Given the description of an element on the screen output the (x, y) to click on. 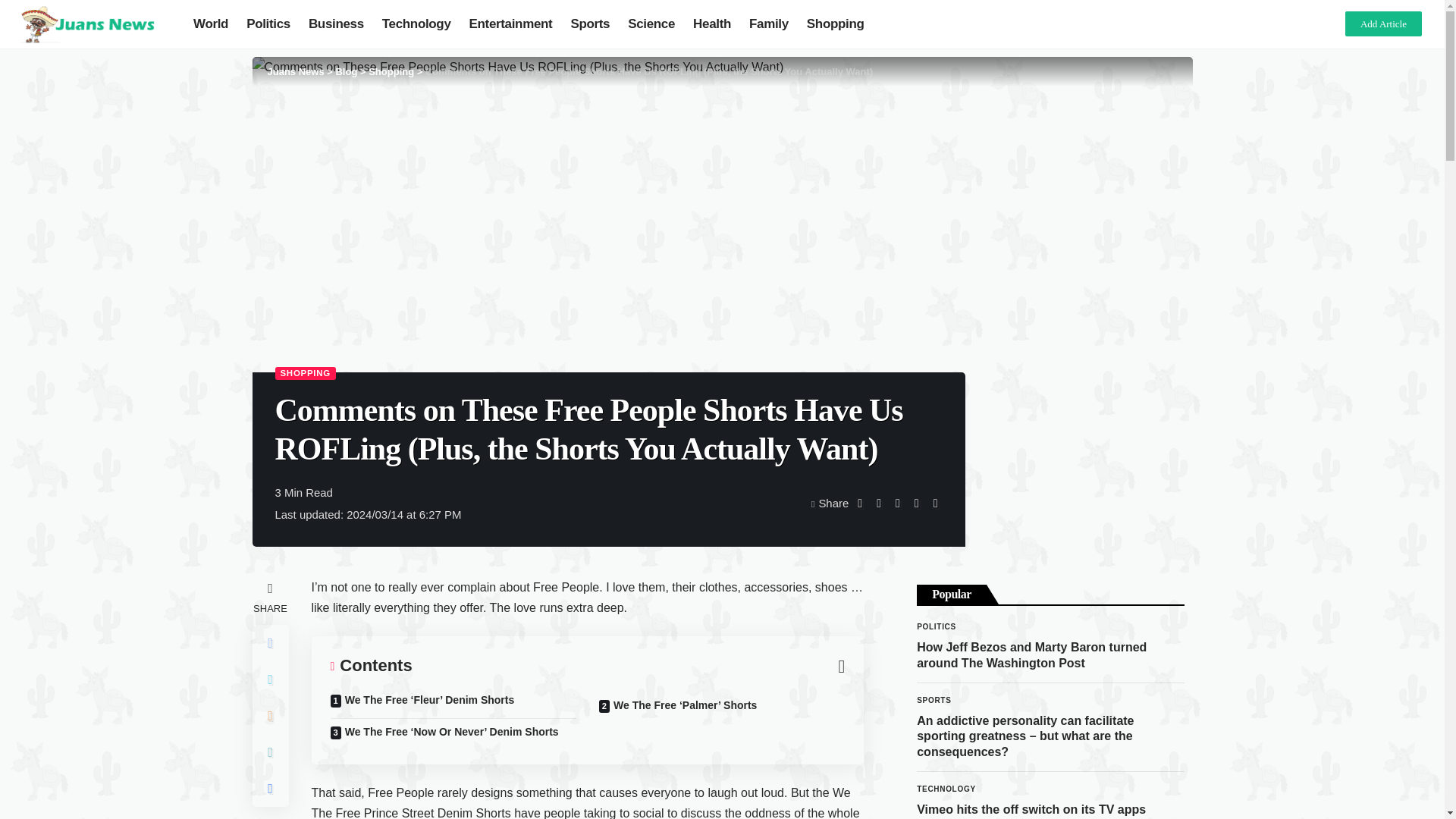
Health (711, 23)
Go to Blog. (345, 71)
Go to Juans News. (294, 71)
Business (335, 23)
Science (651, 23)
Shopping (390, 71)
Politics (268, 23)
Family (768, 23)
Juans News (294, 71)
Go to the Shopping Category archives. (390, 71)
Shopping (835, 23)
World (210, 23)
Blog (345, 71)
Technology (416, 23)
Entertainment (511, 23)
